Given the description of an element on the screen output the (x, y) to click on. 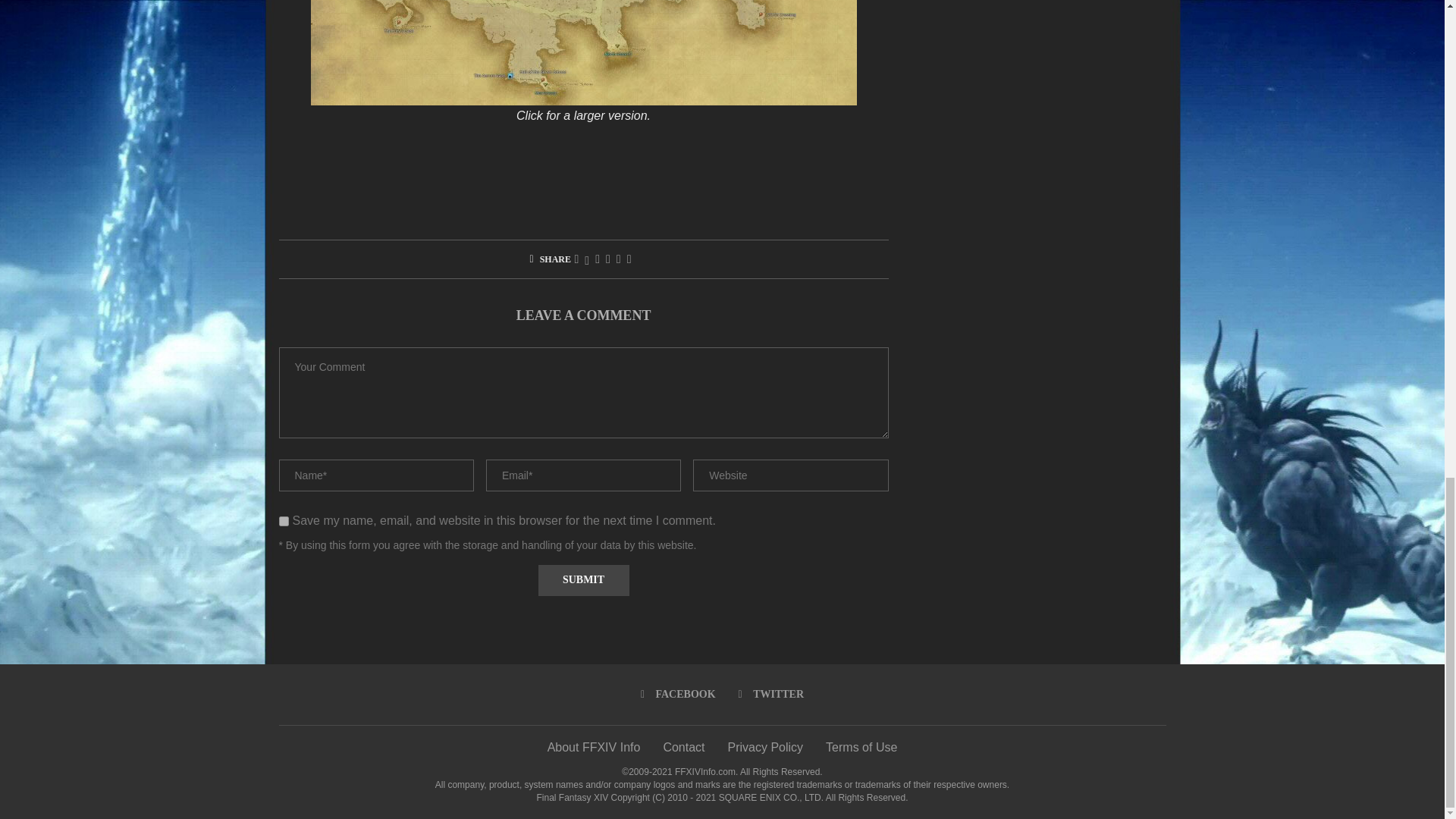
yes (283, 521)
Submit (583, 580)
